Given the description of an element on the screen output the (x, y) to click on. 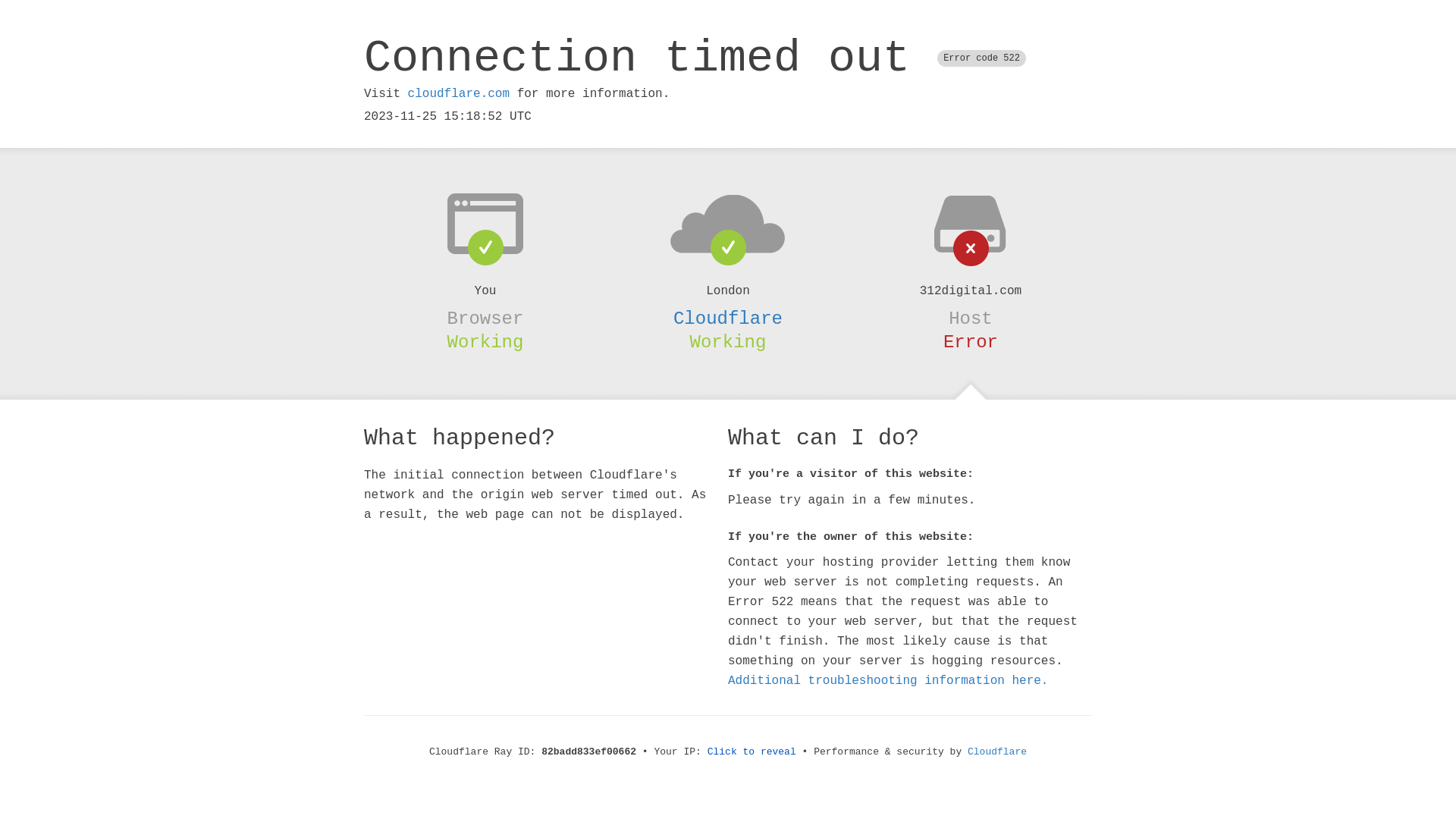
Cloudflare Element type: text (996, 751)
Cloudflare Element type: text (727, 318)
Click to reveal Element type: text (751, 751)
Additional troubleshooting information here. Element type: text (888, 680)
cloudflare.com Element type: text (458, 93)
